Given the description of an element on the screen output the (x, y) to click on. 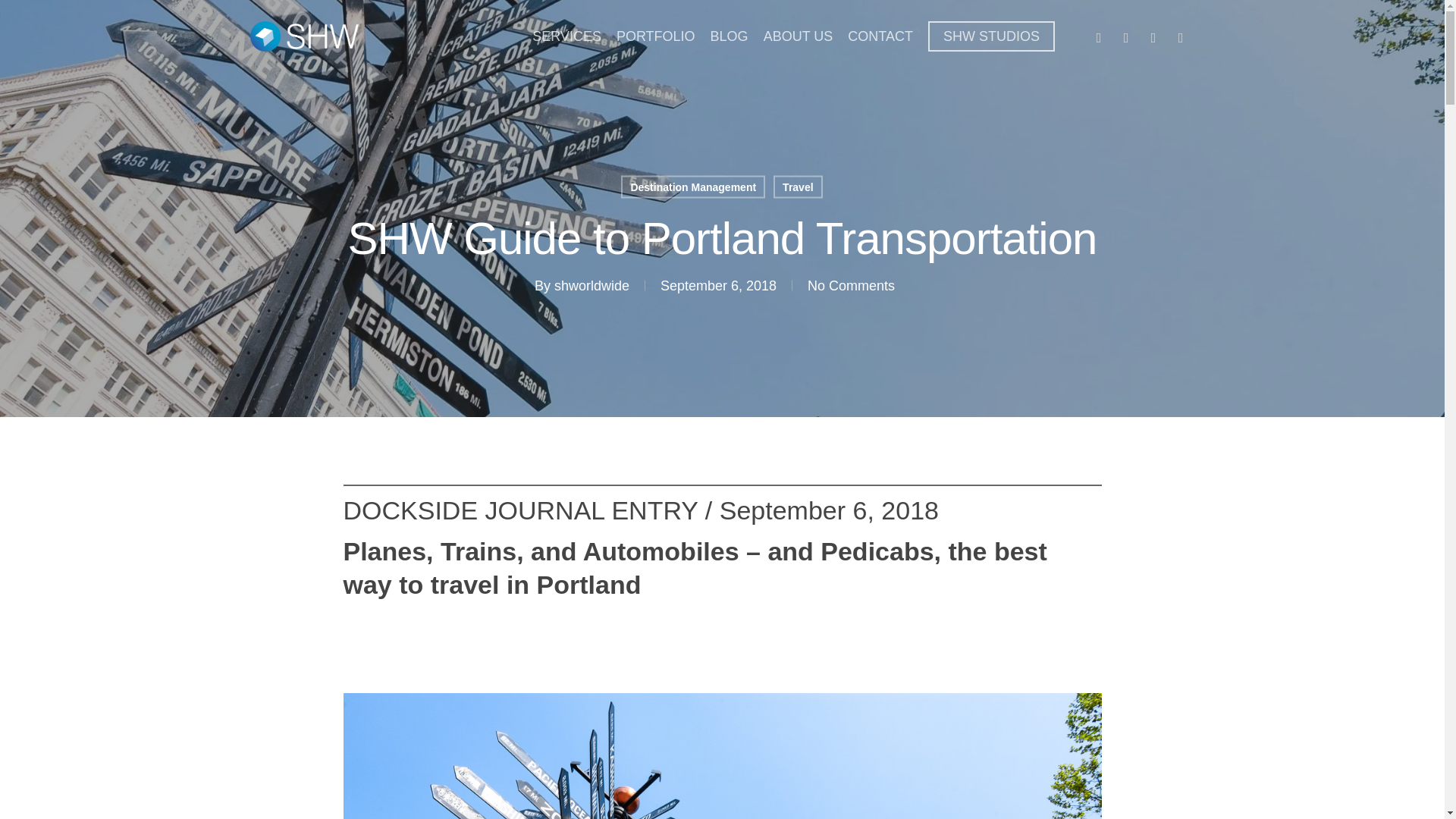
206.923.8600 (744, 576)
facebook (642, 629)
Copyright Notice (829, 715)
linkedin (748, 629)
PORTFOLIO (655, 36)
vimeo (1126, 36)
linkedin (1153, 36)
vimeo (695, 629)
Privacy Policy (608, 715)
Destination Management (693, 187)
facebook (1098, 36)
Travel (797, 187)
Terms and Conditions (716, 715)
CONTACT (879, 36)
SERVICES (566, 36)
